Given the description of an element on the screen output the (x, y) to click on. 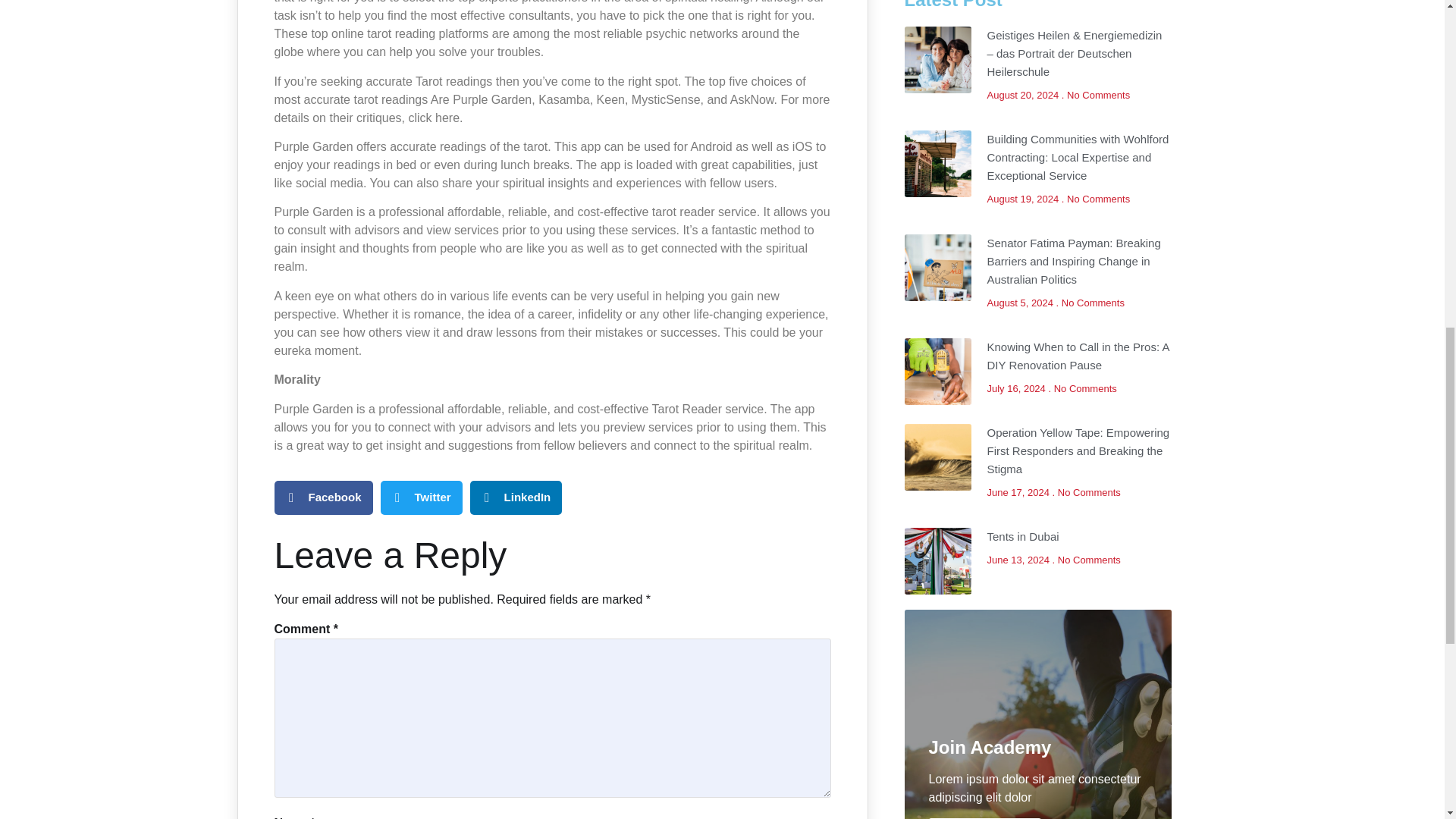
Knowing When to Call in the Pros: A DIY Renovation Pause (1078, 355)
Tents in Dubai (1023, 535)
